Given the description of an element on the screen output the (x, y) to click on. 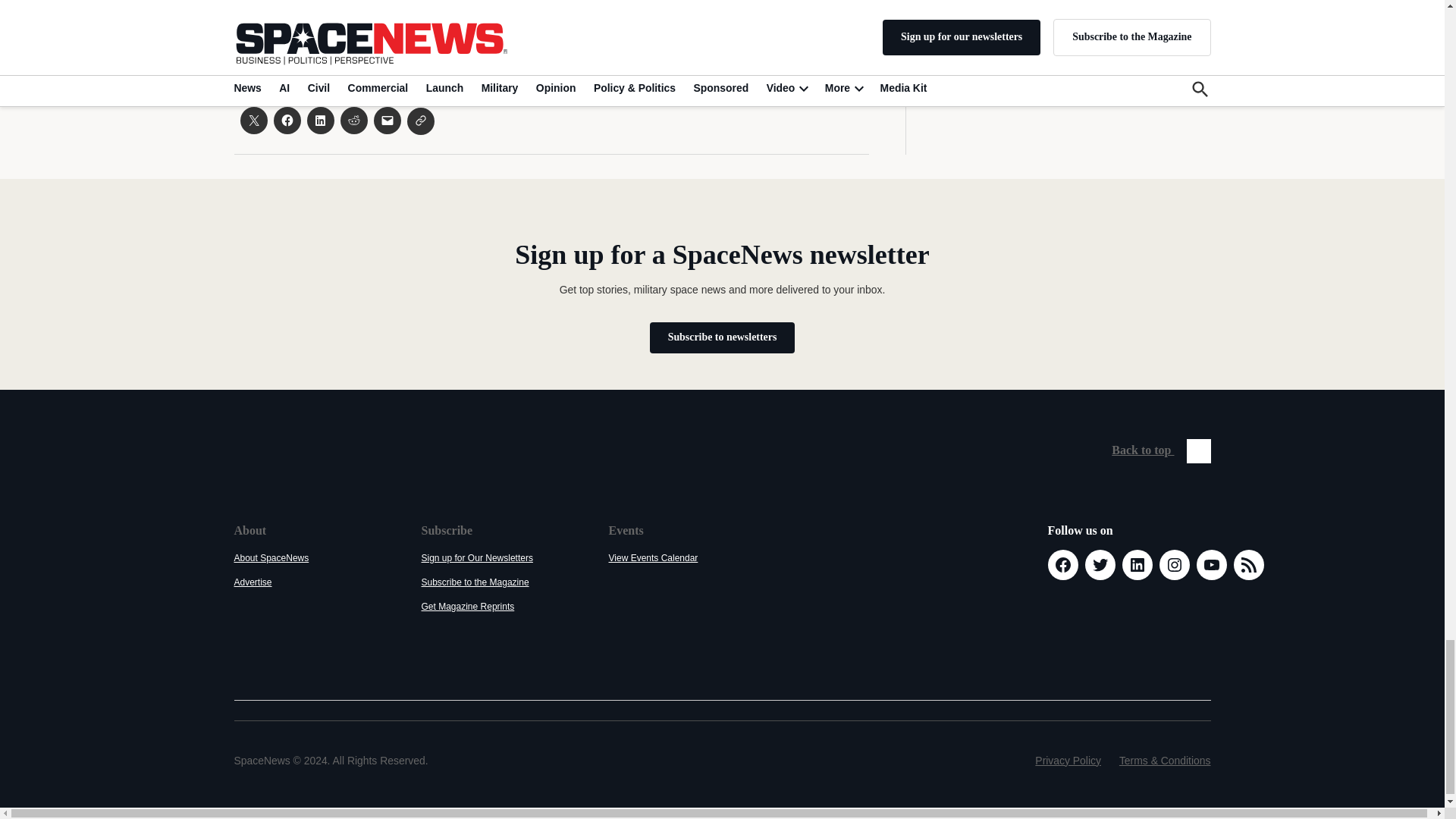
Click to share on Clipboard (419, 121)
Click to share on Reddit (352, 120)
Click to share on X (253, 120)
Click to email a link to a friend (386, 120)
Click to share on Facebook (286, 120)
Click to share on LinkedIn (319, 120)
